Given the description of an element on the screen output the (x, y) to click on. 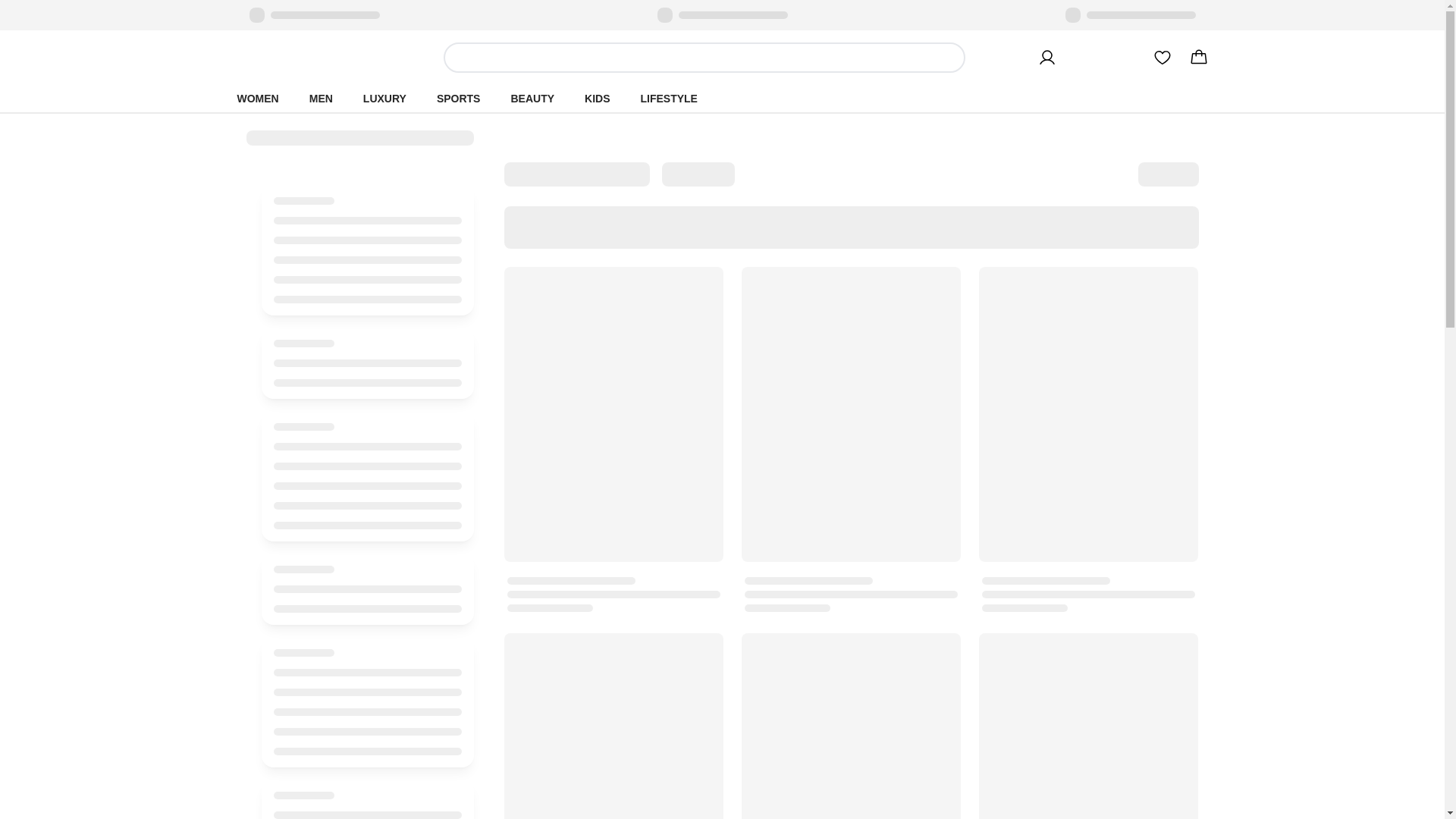
WOMEN (256, 98)
BEAUTY (531, 98)
LIFESTYLE (668, 98)
SPORTS (459, 98)
LUXURY (384, 98)
MEN (321, 98)
KIDS (596, 98)
